Given the description of an element on the screen output the (x, y) to click on. 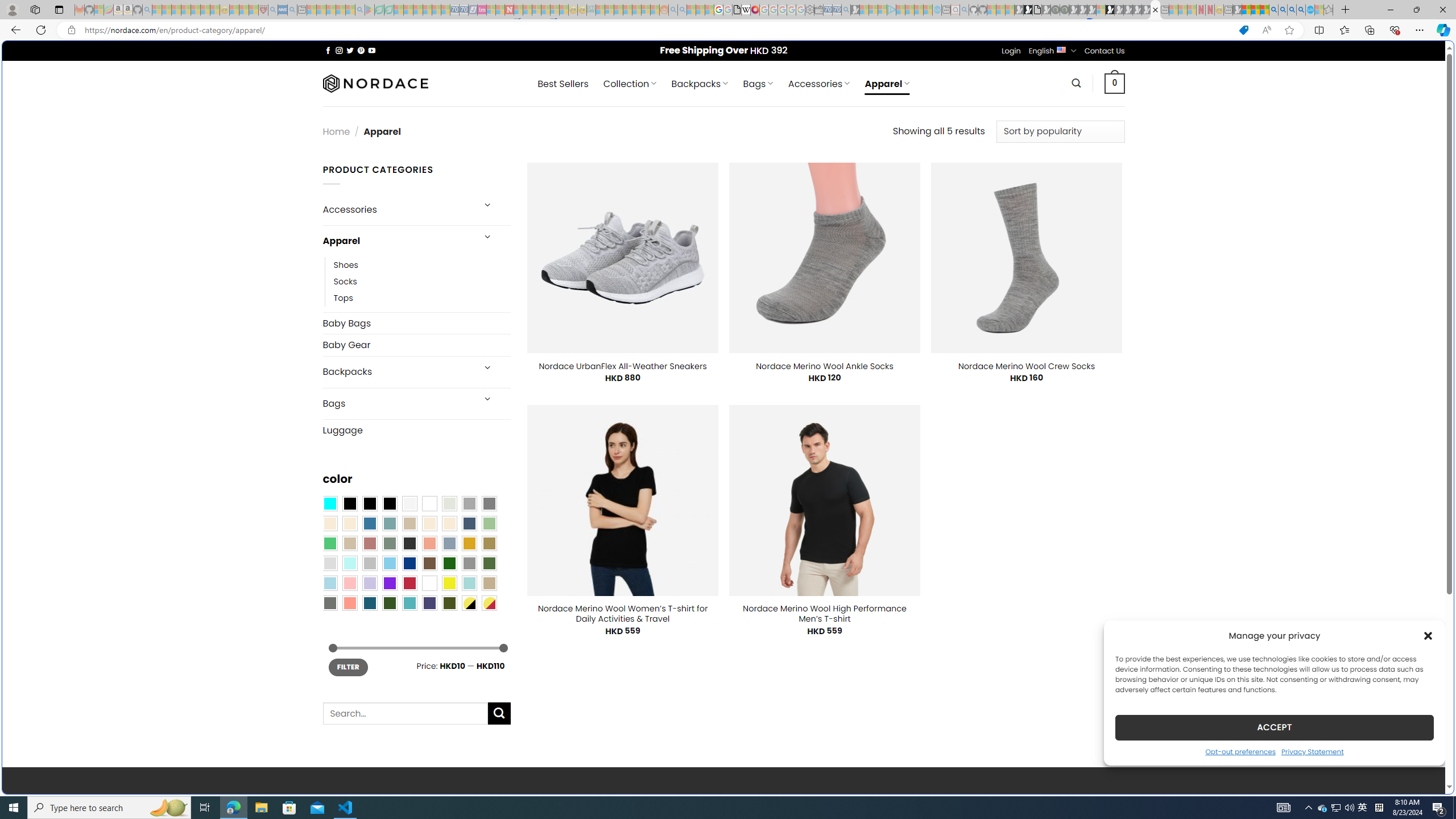
Shoes (345, 264)
Settings - Sleeping (809, 9)
Wallet - Sleeping (818, 9)
Follow on Pinterest (360, 49)
Caramel (429, 522)
Nordace Merino Wool Ankle Socks (824, 365)
Dusty Blue (449, 542)
Bing Real Estate - Home sales and rental listings - Sleeping (846, 9)
Dark Gray (468, 503)
